Given the description of an element on the screen output the (x, y) to click on. 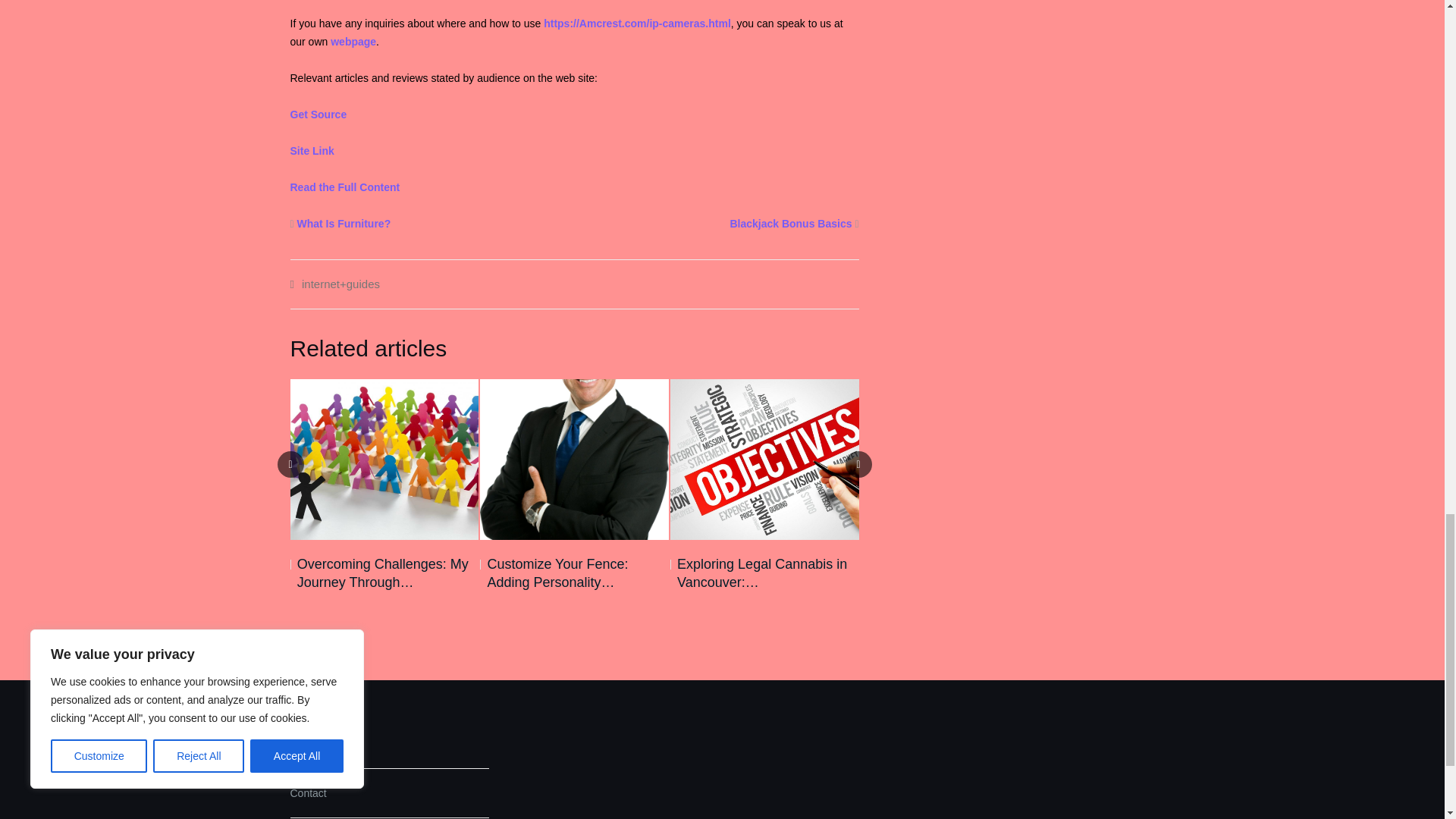
Blackjack Bonus Basics (790, 223)
Site Link (311, 150)
Get Source (317, 114)
webpage (352, 41)
Read the Full Content (343, 186)
What Is Furniture? (344, 223)
